Given the description of an element on the screen output the (x, y) to click on. 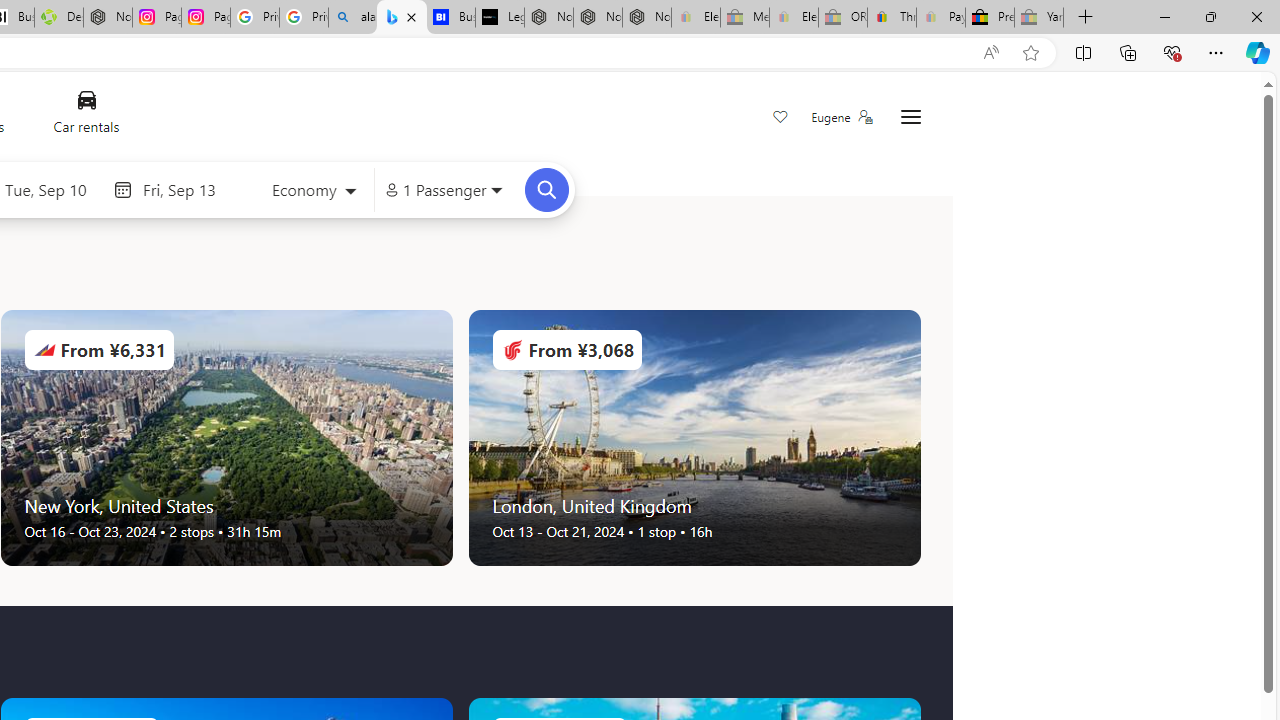
Microsoft Bing Travel - Flights (401, 17)
End date (191, 189)
Eugene (841, 117)
alabama high school quarterback dies - Search (353, 17)
Select class of service (313, 192)
